Given the description of an element on the screen output the (x, y) to click on. 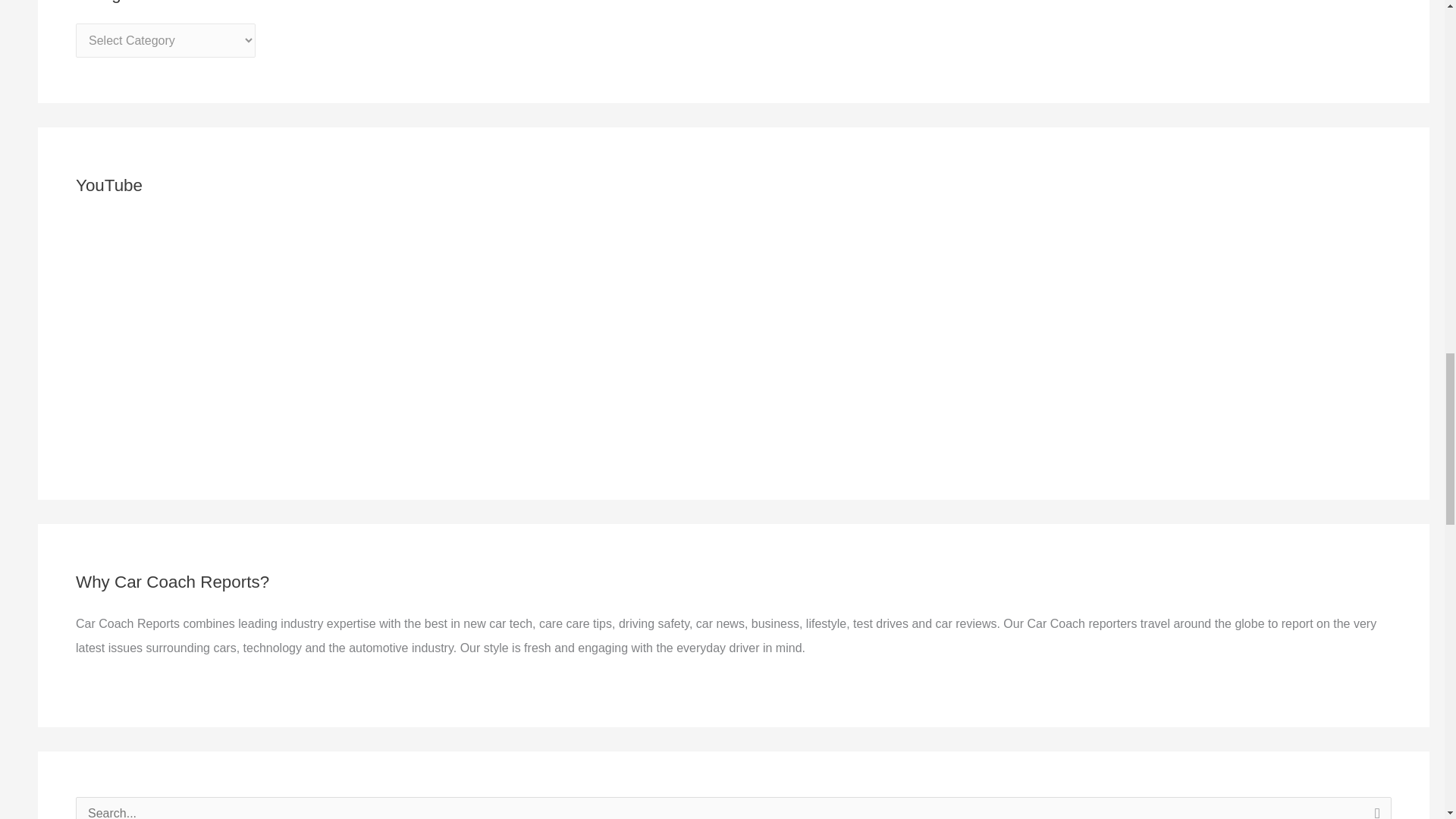
Search (1373, 807)
Search (1373, 807)
